Given the description of an element on the screen output the (x, y) to click on. 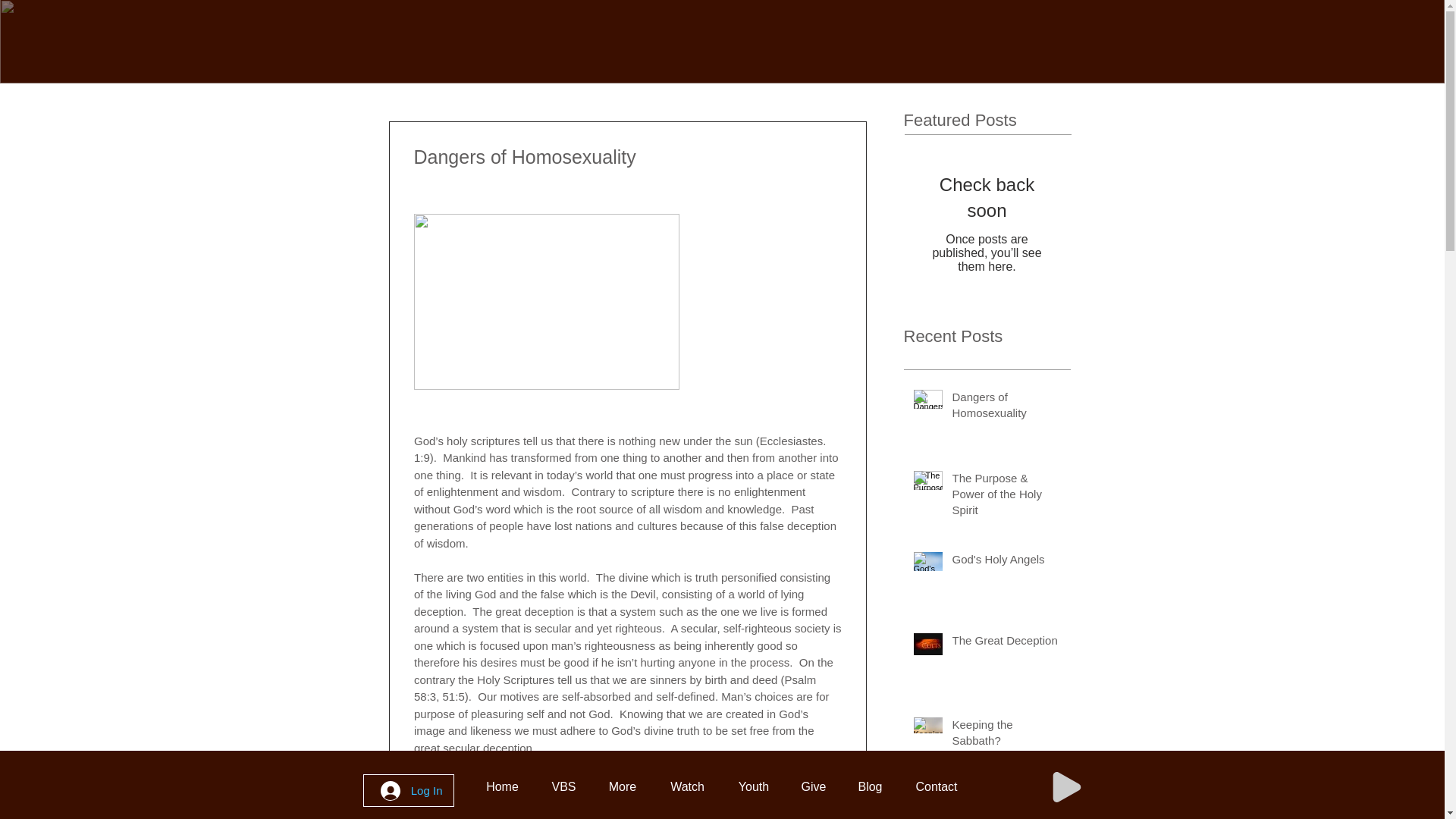
The Great Deception (1006, 643)
Log In (410, 790)
Home (501, 786)
More (621, 786)
Yeshua or Jesus which is correct? (1006, 806)
Dangers of Homosexuality (1006, 407)
VBS (563, 786)
Give (813, 786)
God's Holy Angels (1006, 562)
Website Logo Test 1.png (412, 53)
